Given the description of an element on the screen output the (x, y) to click on. 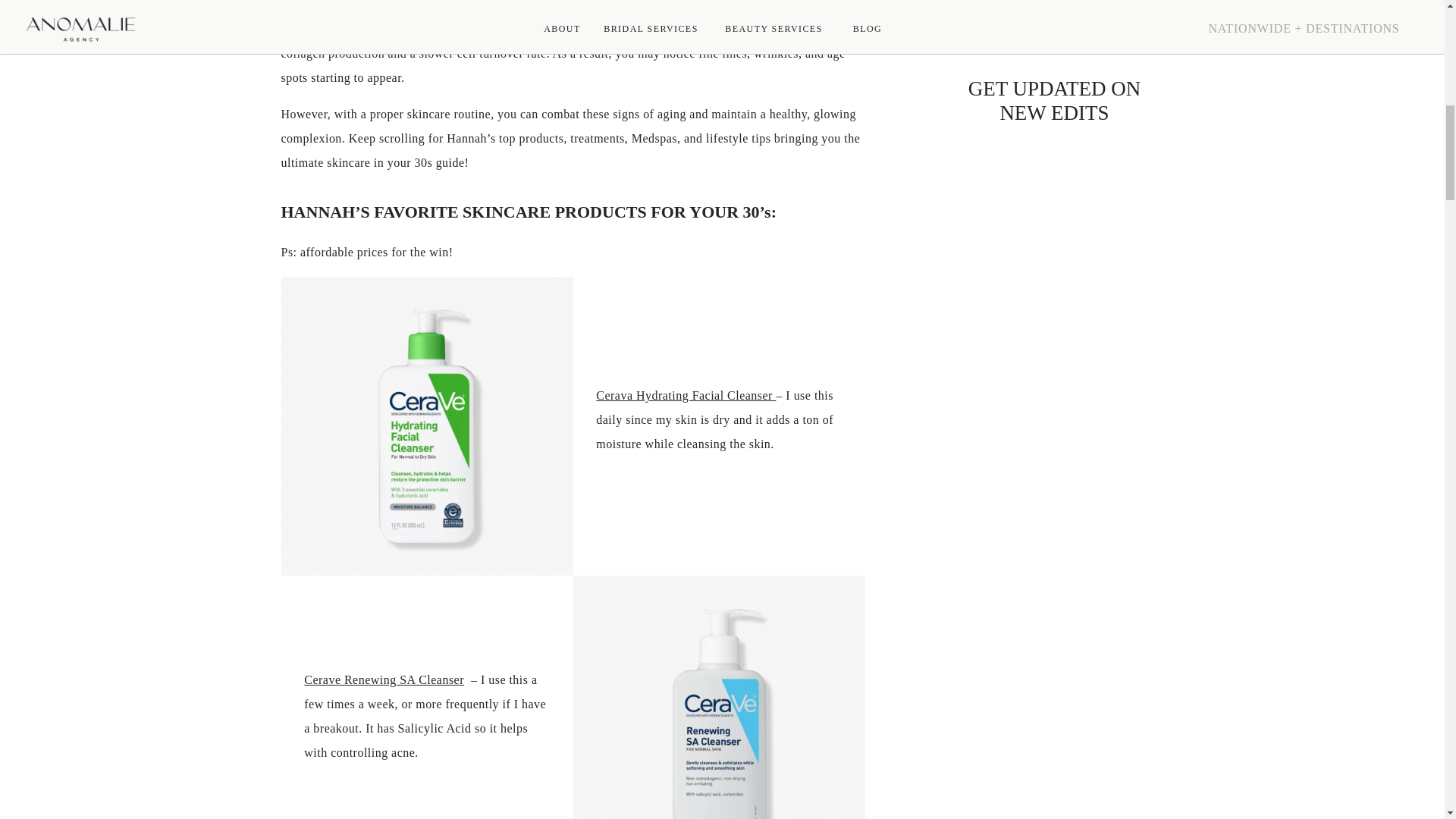
An Inside Scoop To Our Company Trainings  (1121, 9)
Cerava Hydrating Facial Cleanser (685, 395)
Cerave Renewing SA Cleanser (384, 679)
